Given the description of an element on the screen output the (x, y) to click on. 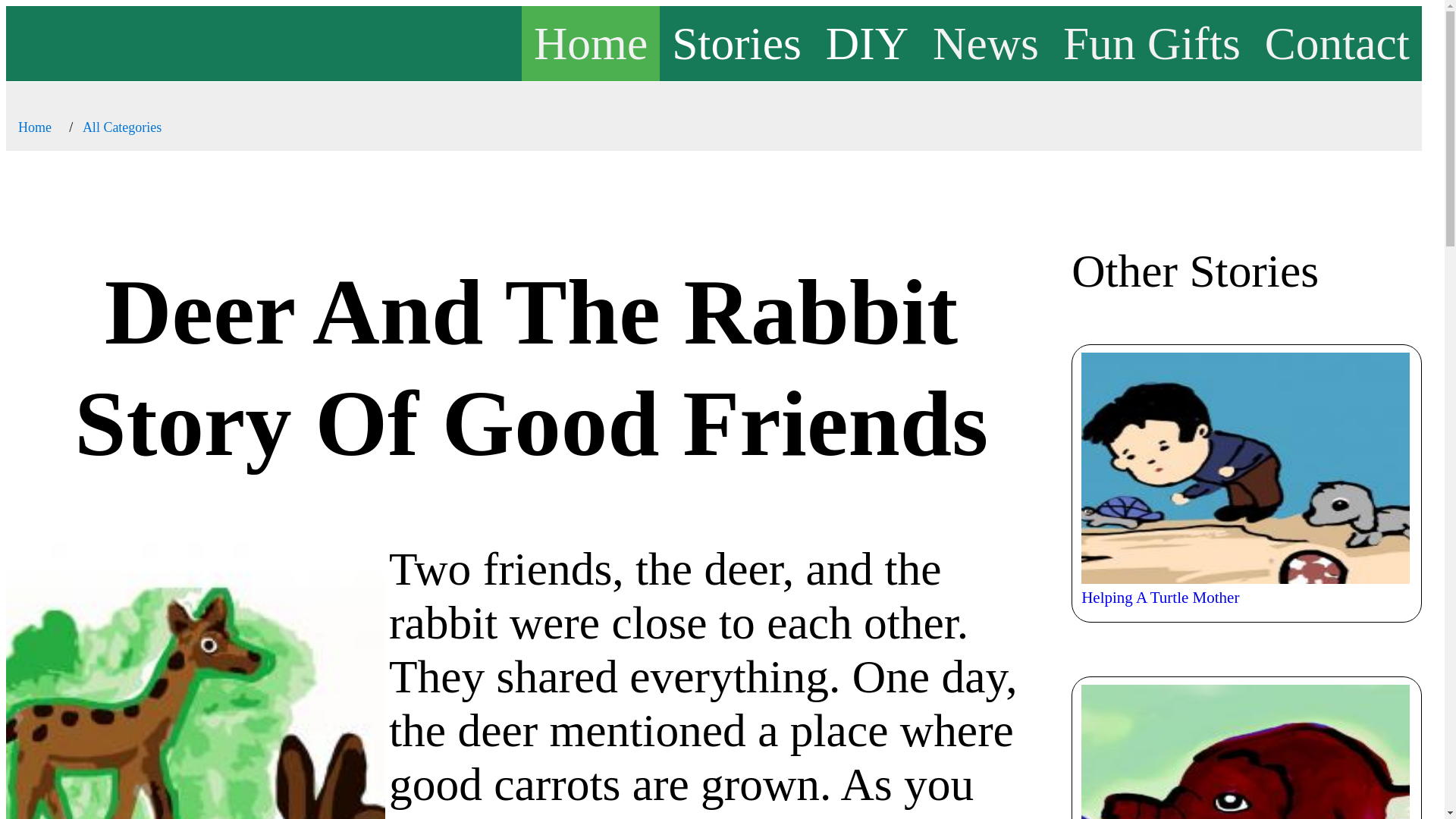
Fun Gifts (1151, 43)
DIY (866, 43)
News (985, 43)
All Categories (121, 127)
Home (590, 43)
Stories (736, 43)
Home (33, 127)
